Given the description of an element on the screen output the (x, y) to click on. 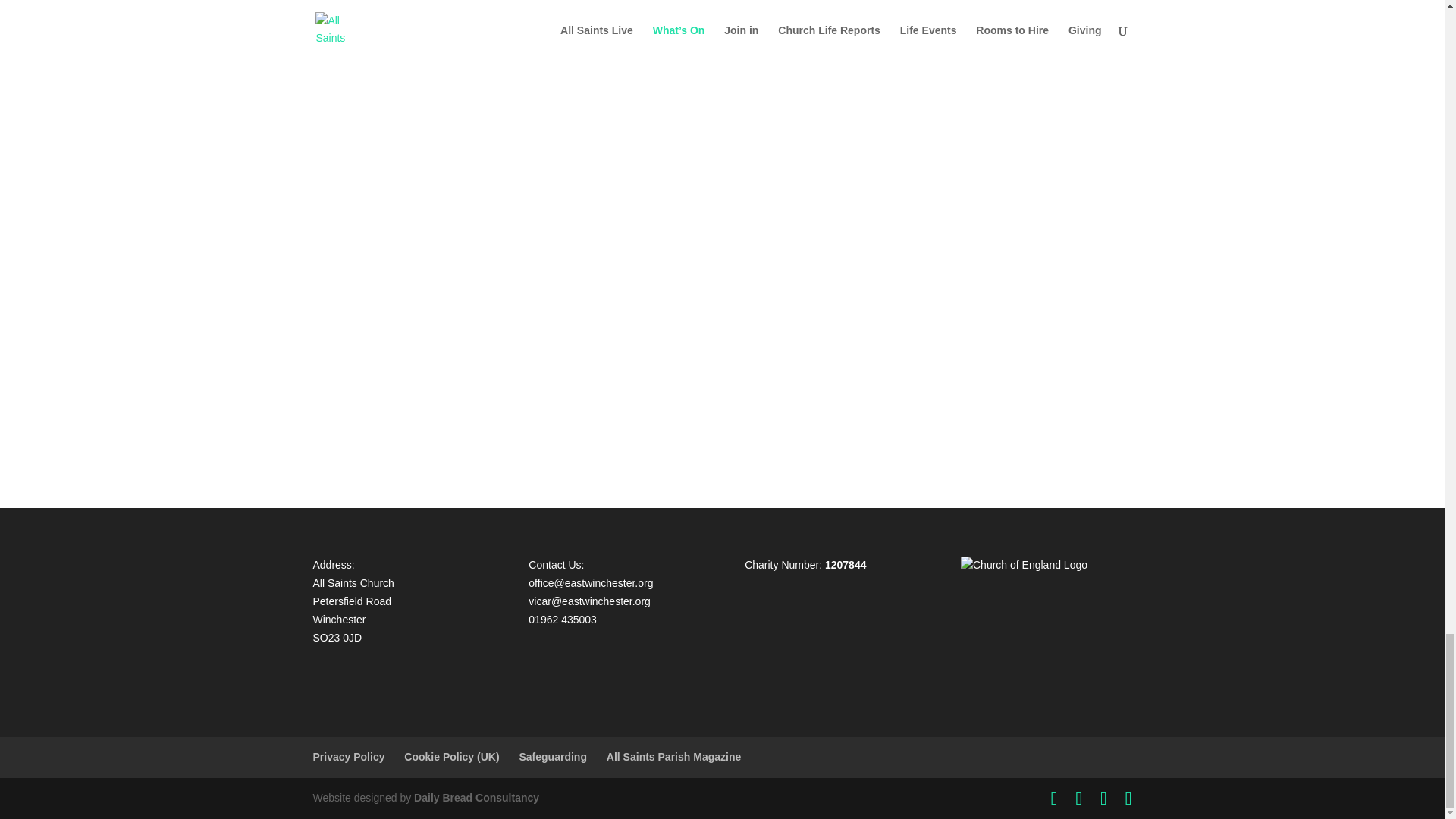
All Saints Parish Magazine (674, 756)
Privacy Policy (348, 756)
Daily Bread Consultancy (475, 797)
Safeguarding (552, 756)
